Given the description of an element on the screen output the (x, y) to click on. 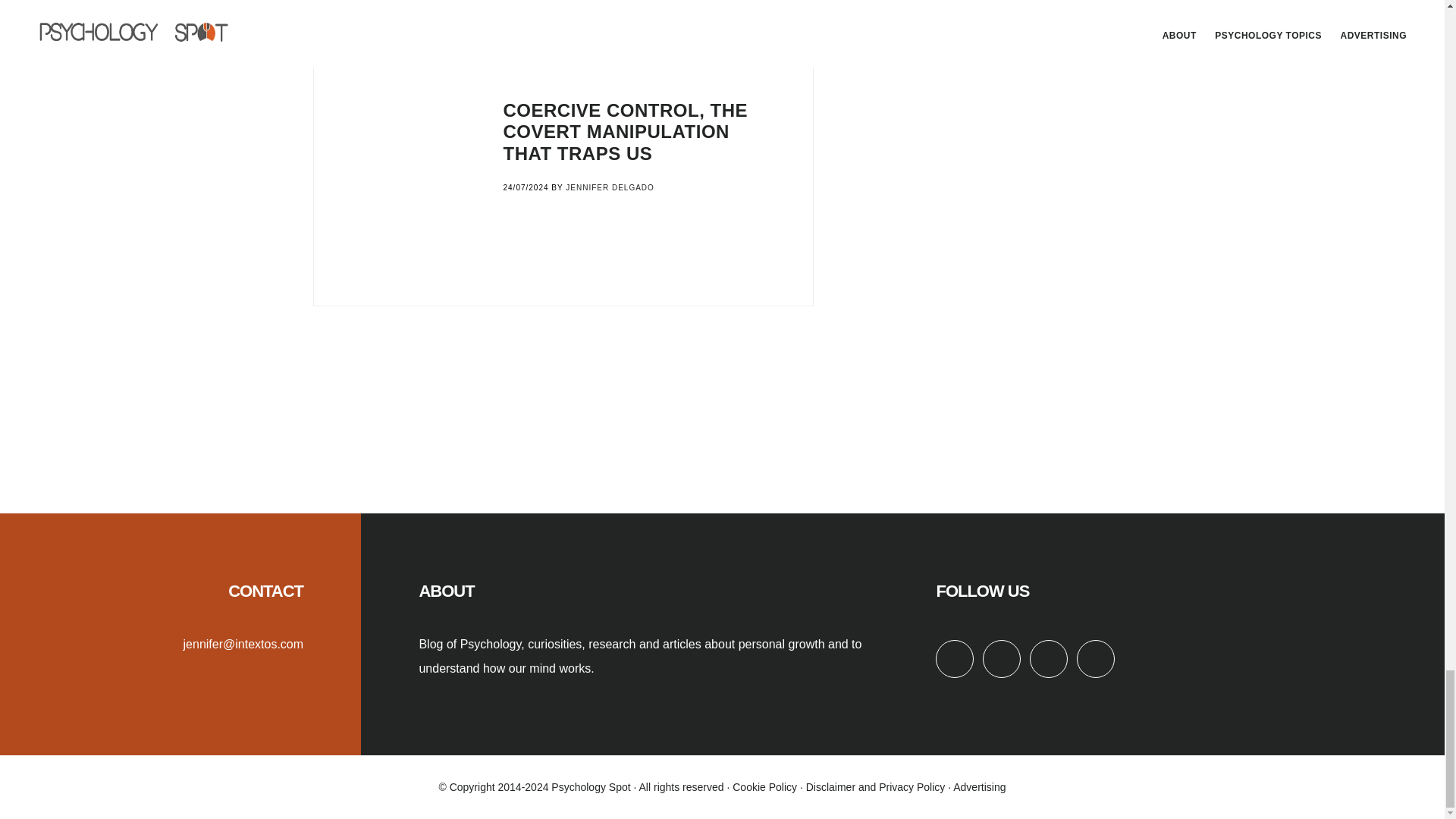
COERCIVE CONTROL, THE COVERT MANIPULATION THAT TRAPS US (625, 131)
JENNIFER DELGADO (609, 187)
